Given the description of an element on the screen output the (x, y) to click on. 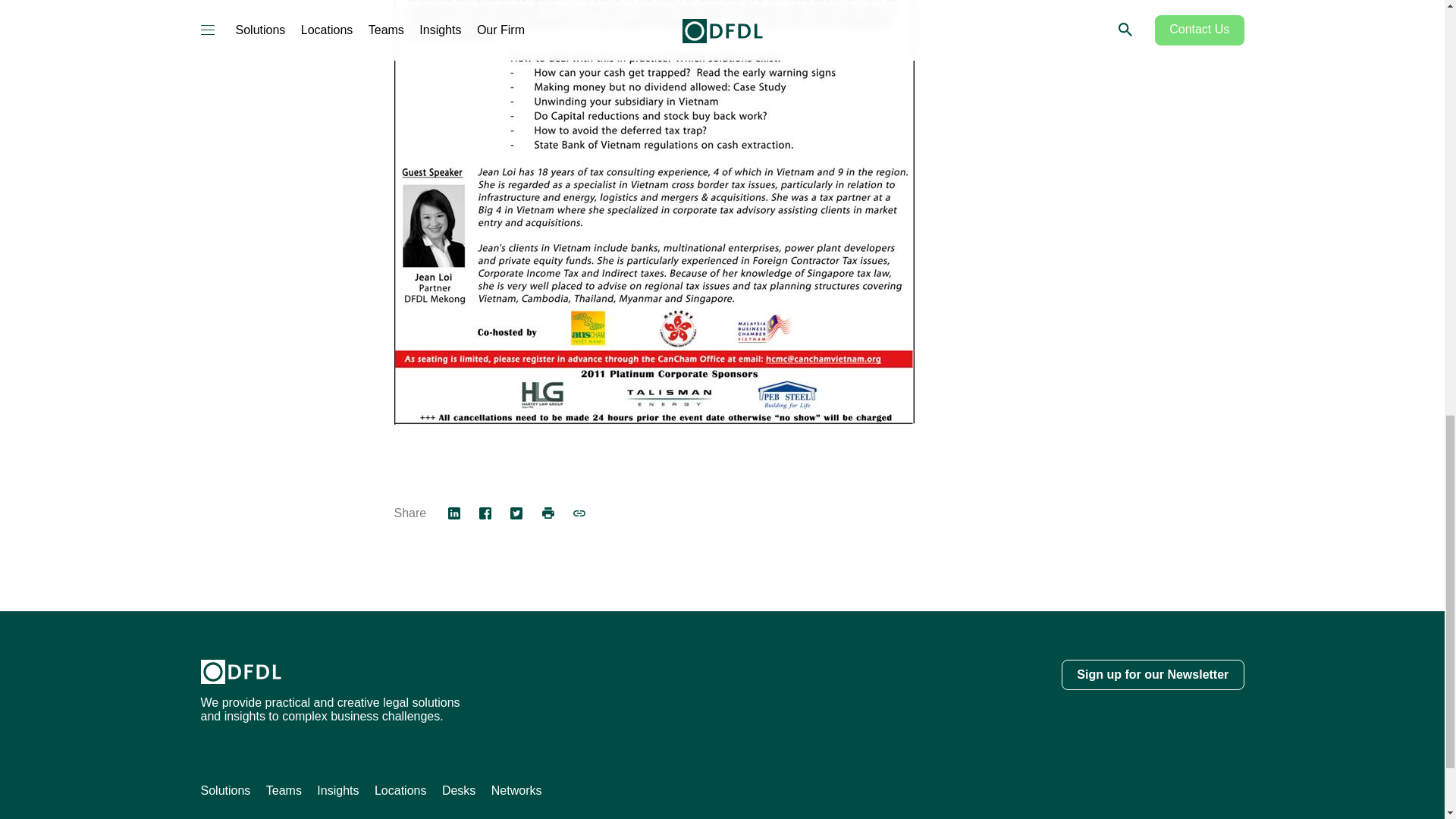
Locations (400, 790)
Teams (283, 790)
Insights (337, 790)
Solutions (225, 790)
Sign up for our Newsletter (1152, 675)
